Given the description of an element on the screen output the (x, y) to click on. 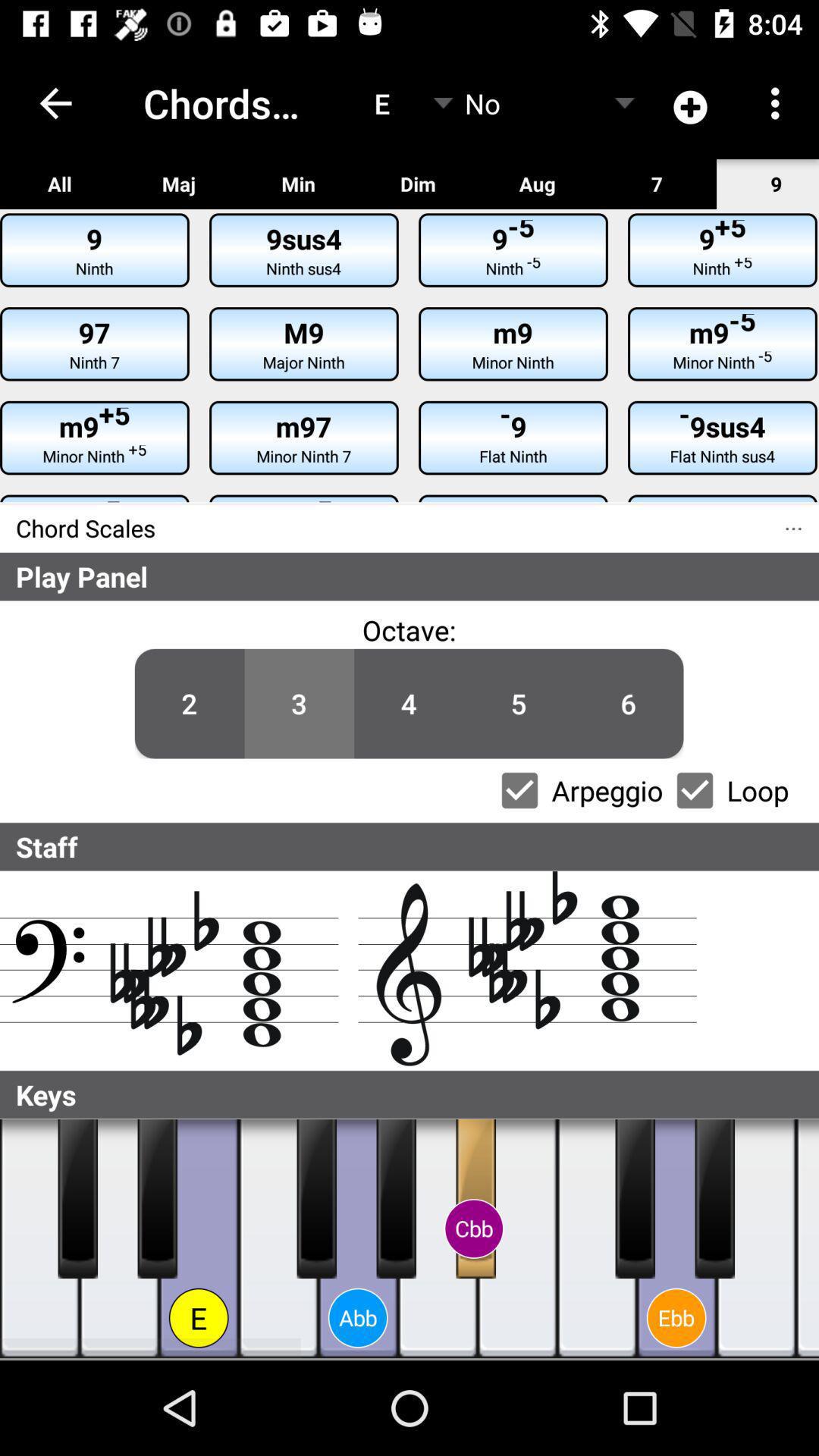
pressing this creates an a flat note from the keyboard (358, 1238)
